Given the description of an element on the screen output the (x, y) to click on. 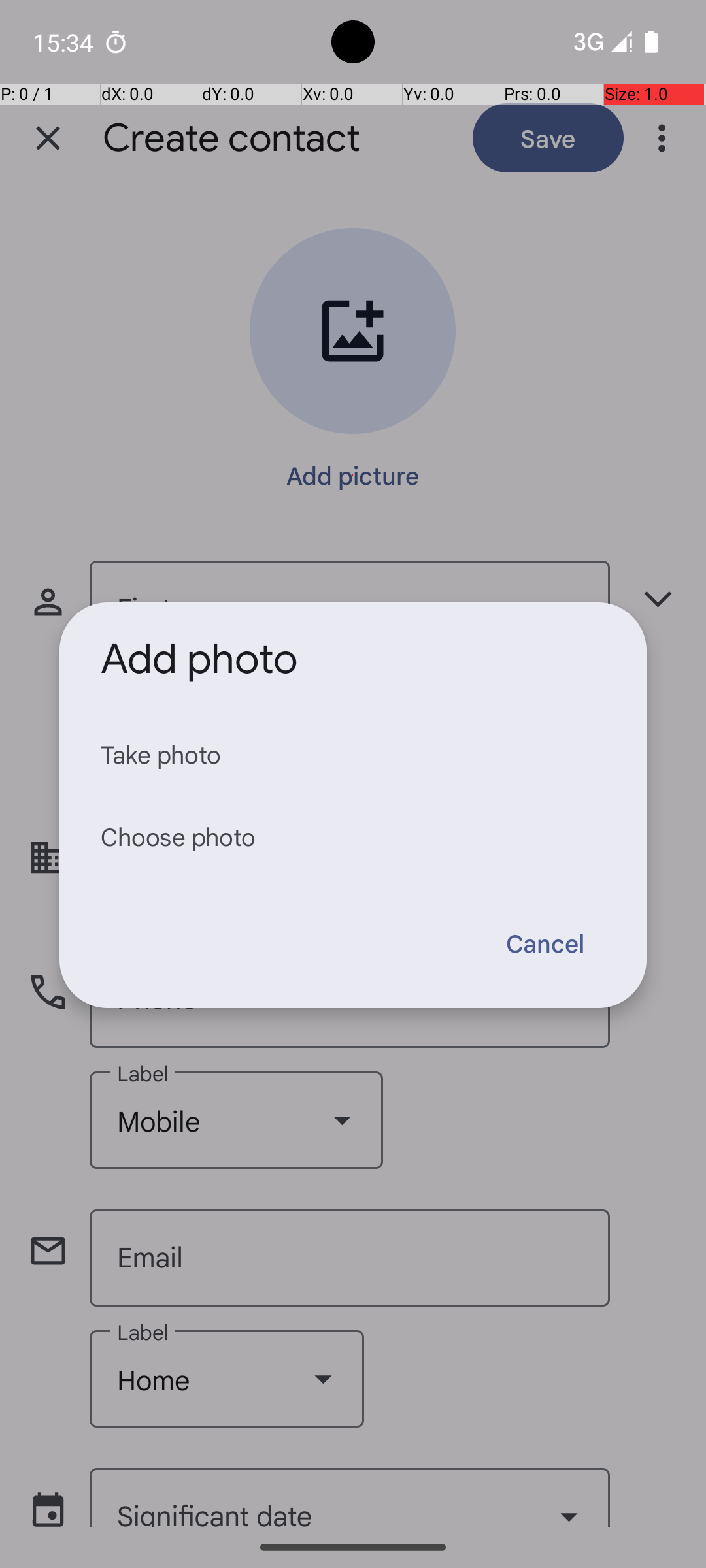
Add photo Element type: android.widget.TextView (199, 659)
